Given the description of an element on the screen output the (x, y) to click on. 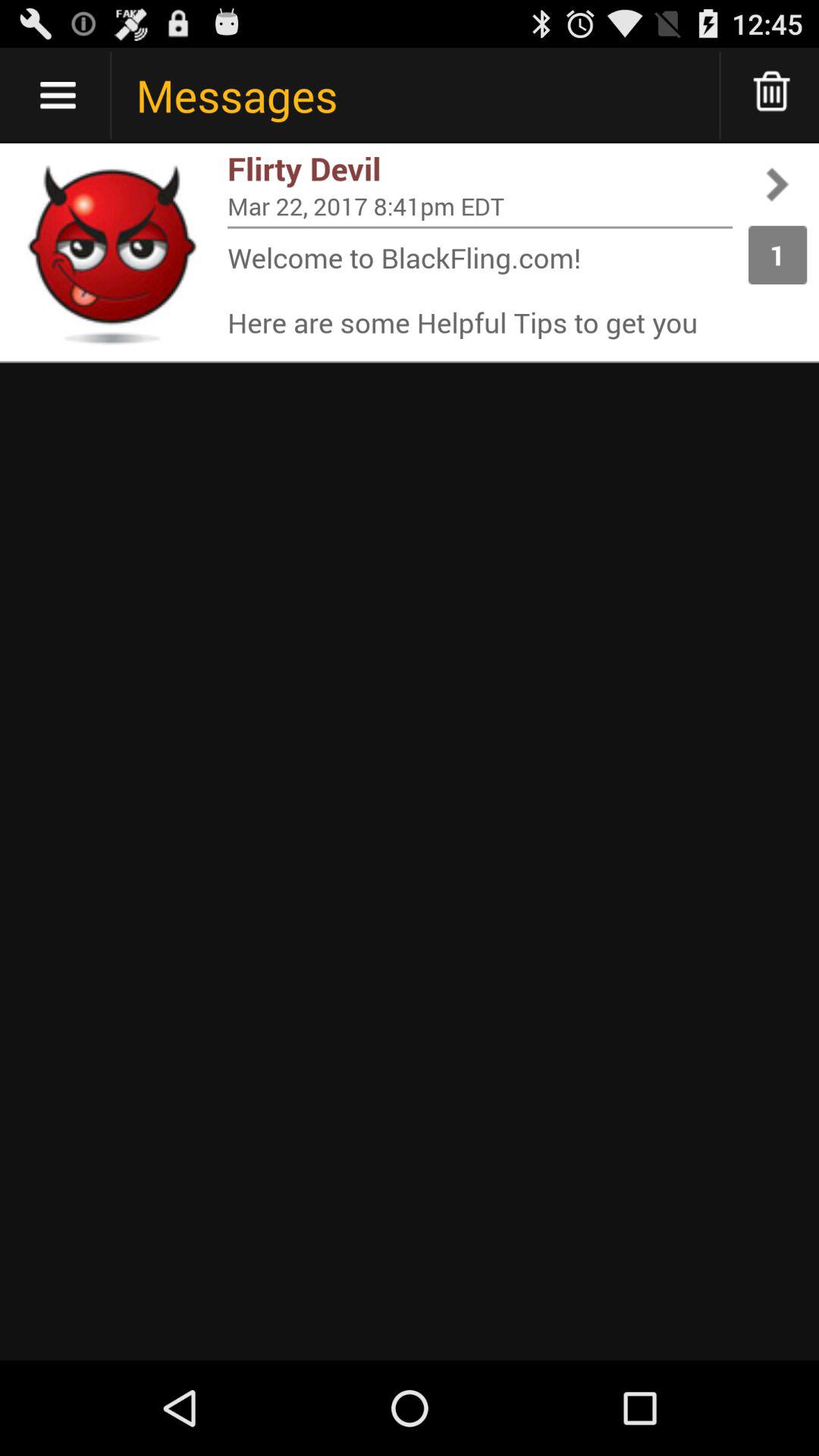
swipe until welcome to blackfling app (479, 289)
